Given the description of an element on the screen output the (x, y) to click on. 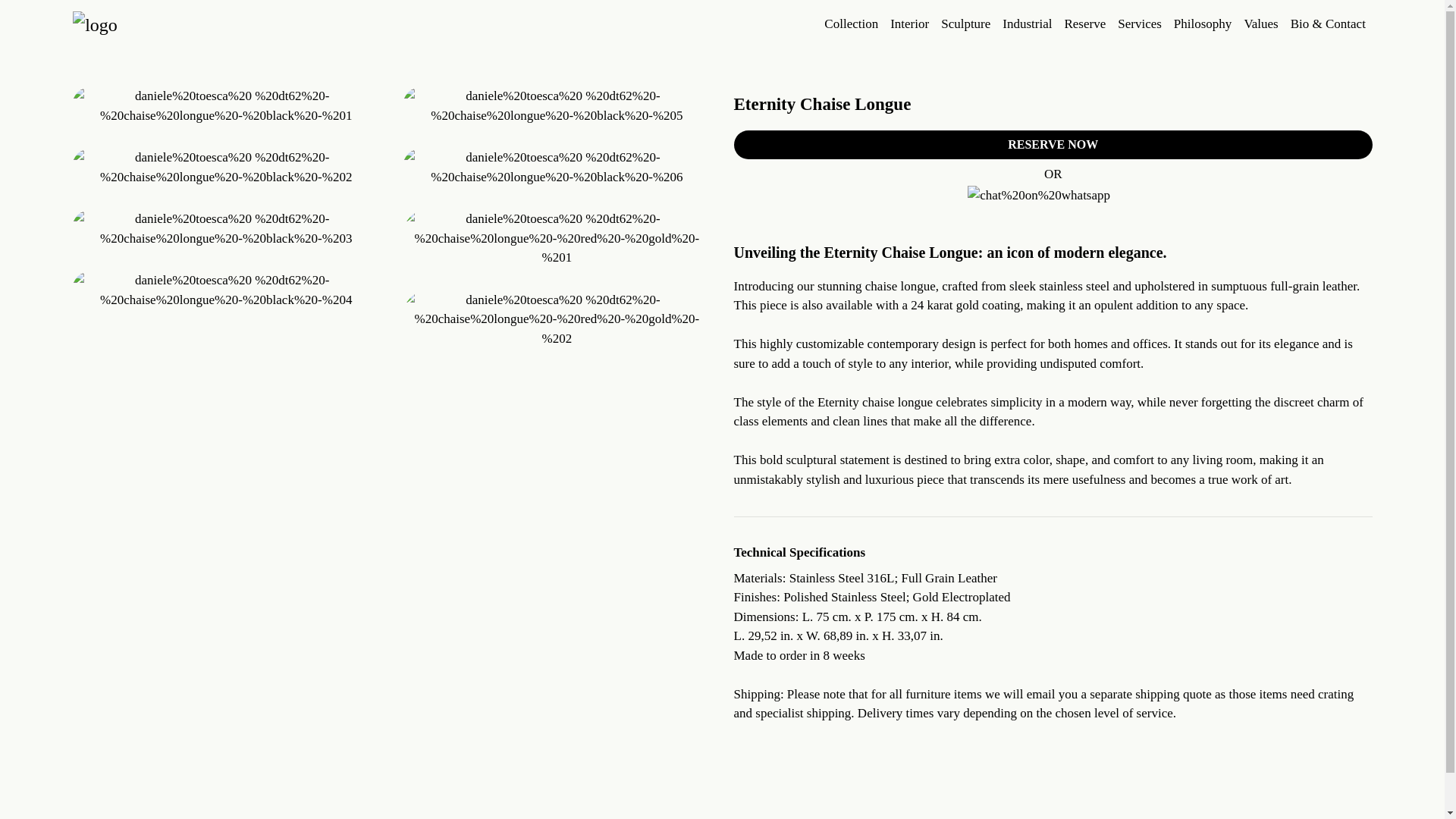
Values (1260, 24)
Interior (908, 24)
Philosophy (1203, 24)
Sculpture (964, 24)
Reserve (1085, 24)
RESERVE NOW (1053, 144)
Services (1139, 24)
Collection (850, 24)
Industrial (1026, 24)
